Given the description of an element on the screen output the (x, y) to click on. 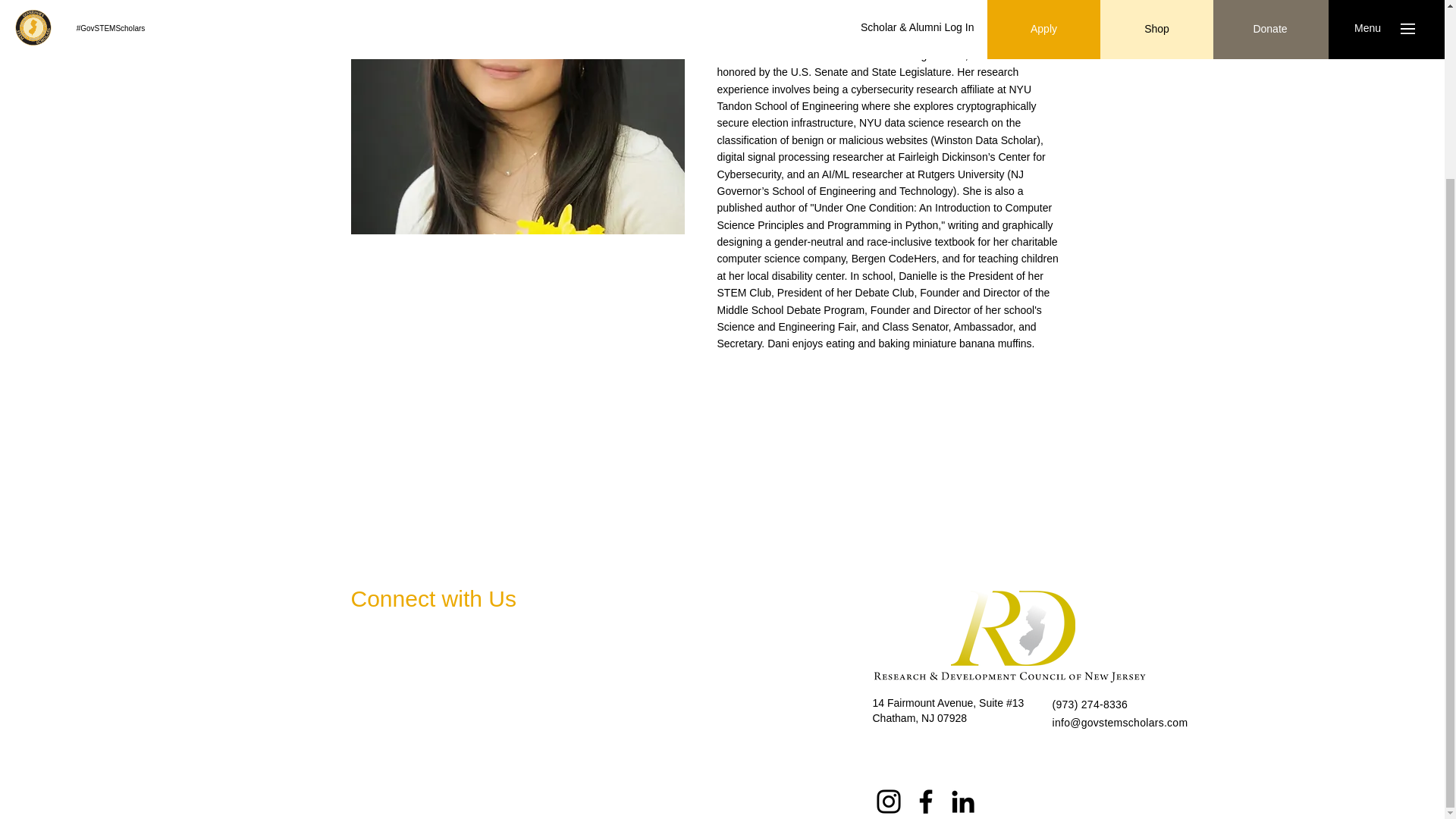
Danielle Park.jpg (517, 117)
